Given the description of an element on the screen output the (x, y) to click on. 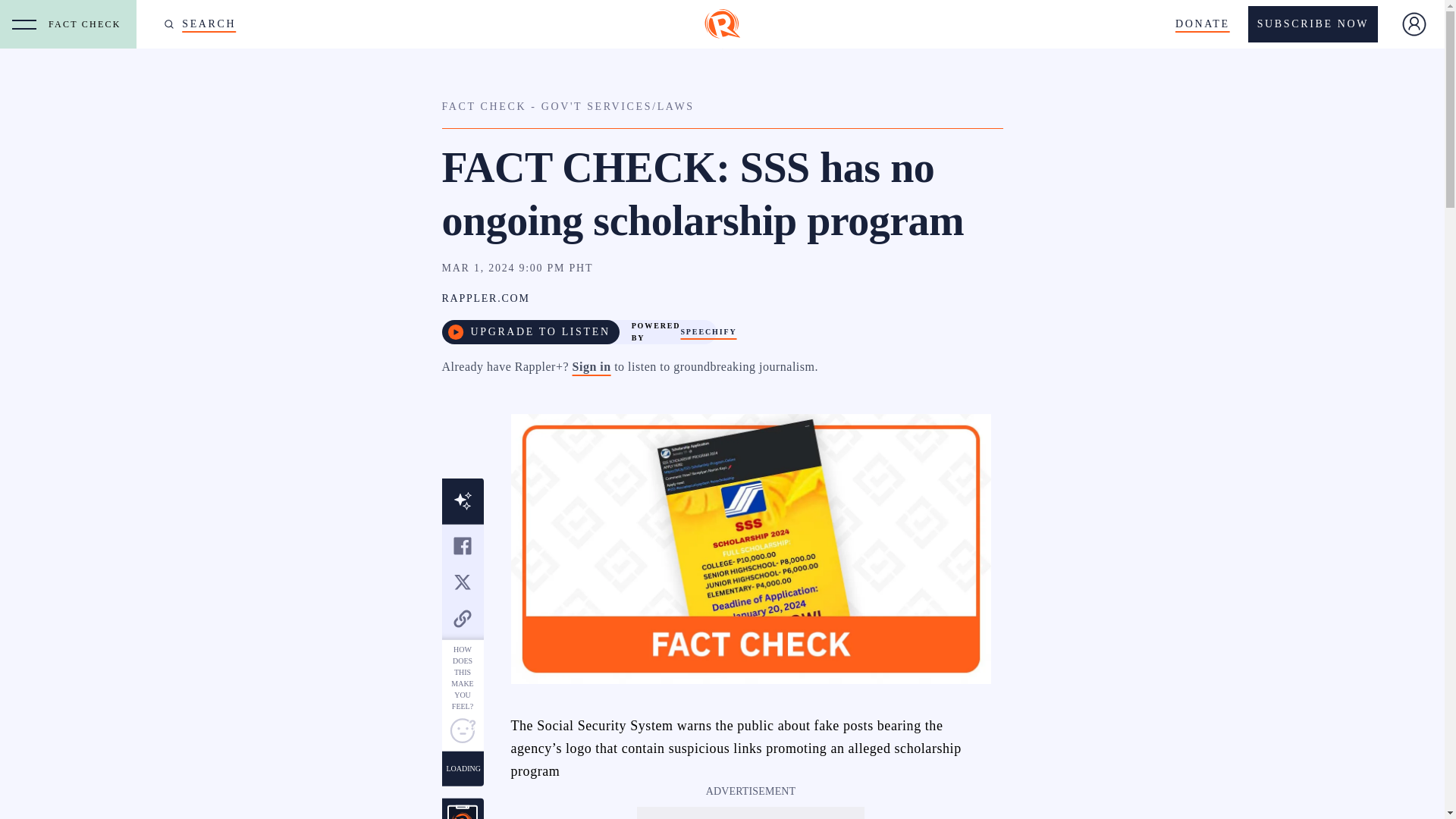
FACT CHECK (88, 23)
OPEN NAVIGATION (24, 24)
